Given the description of an element on the screen output the (x, y) to click on. 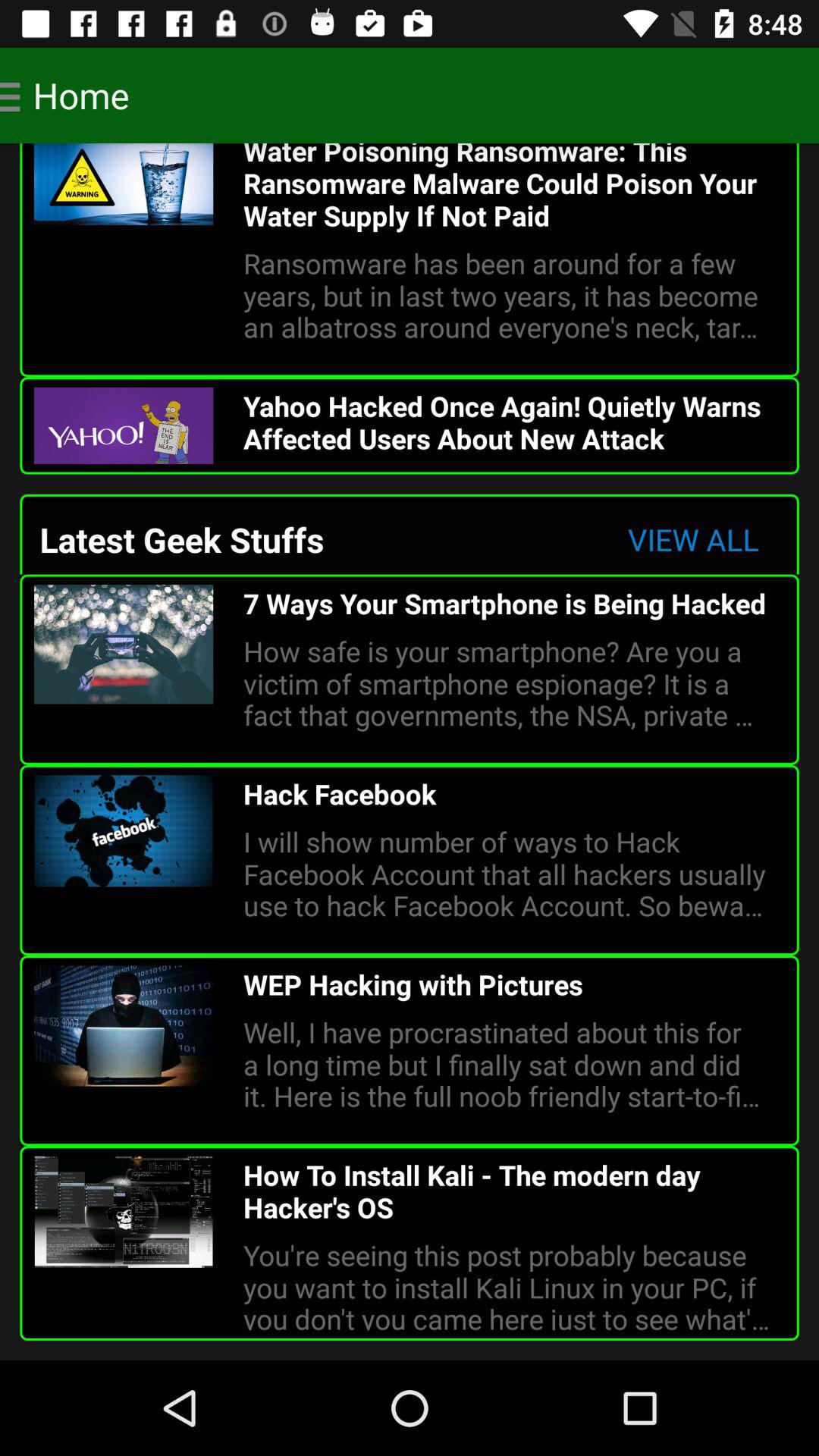
select the third image which is below latest geek stuffs option on page (123, 1026)
